Given the description of an element on the screen output the (x, y) to click on. 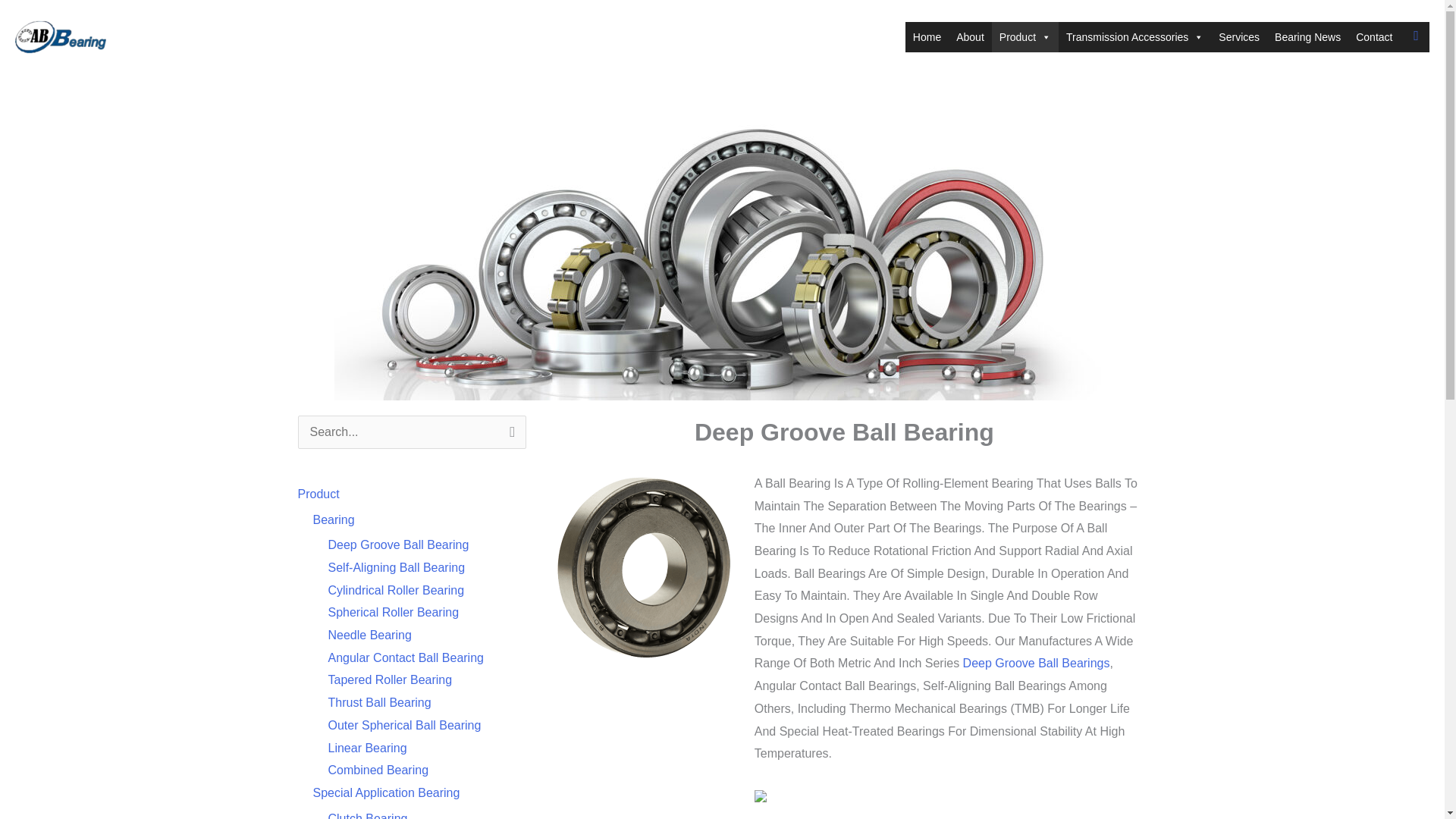
Product (1024, 37)
Home (927, 37)
About (970, 37)
